Given the description of an element on the screen output the (x, y) to click on. 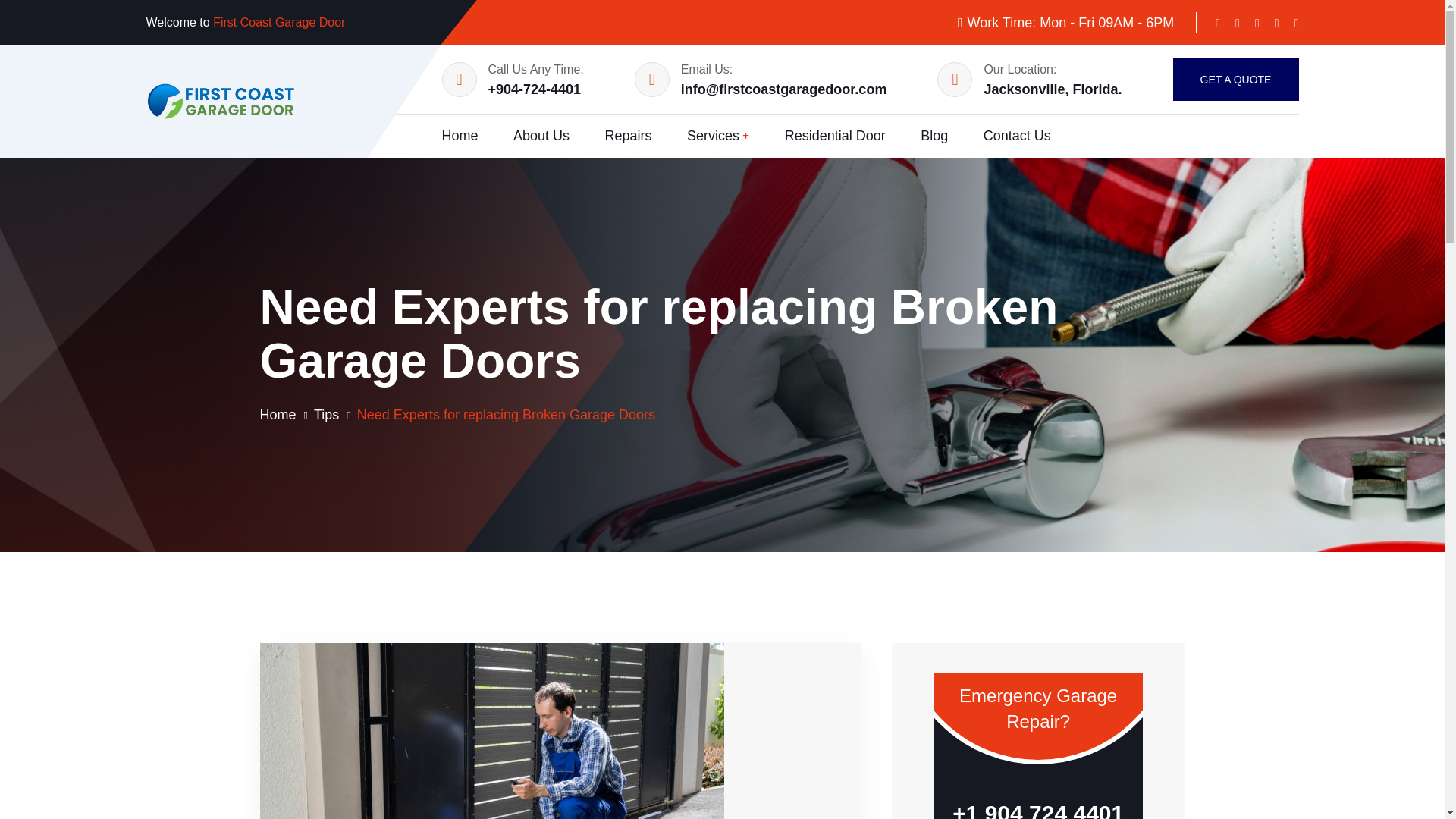
Repairs (627, 135)
Jacksonville, Florida. (1052, 89)
Home (277, 414)
Contact Us (1017, 135)
Services (718, 136)
About Us (541, 135)
Residential Door (834, 135)
Need Experts for replacing Broken Garage Doors (505, 414)
Home (277, 414)
GET A QUOTE (1235, 79)
